Given the description of an element on the screen output the (x, y) to click on. 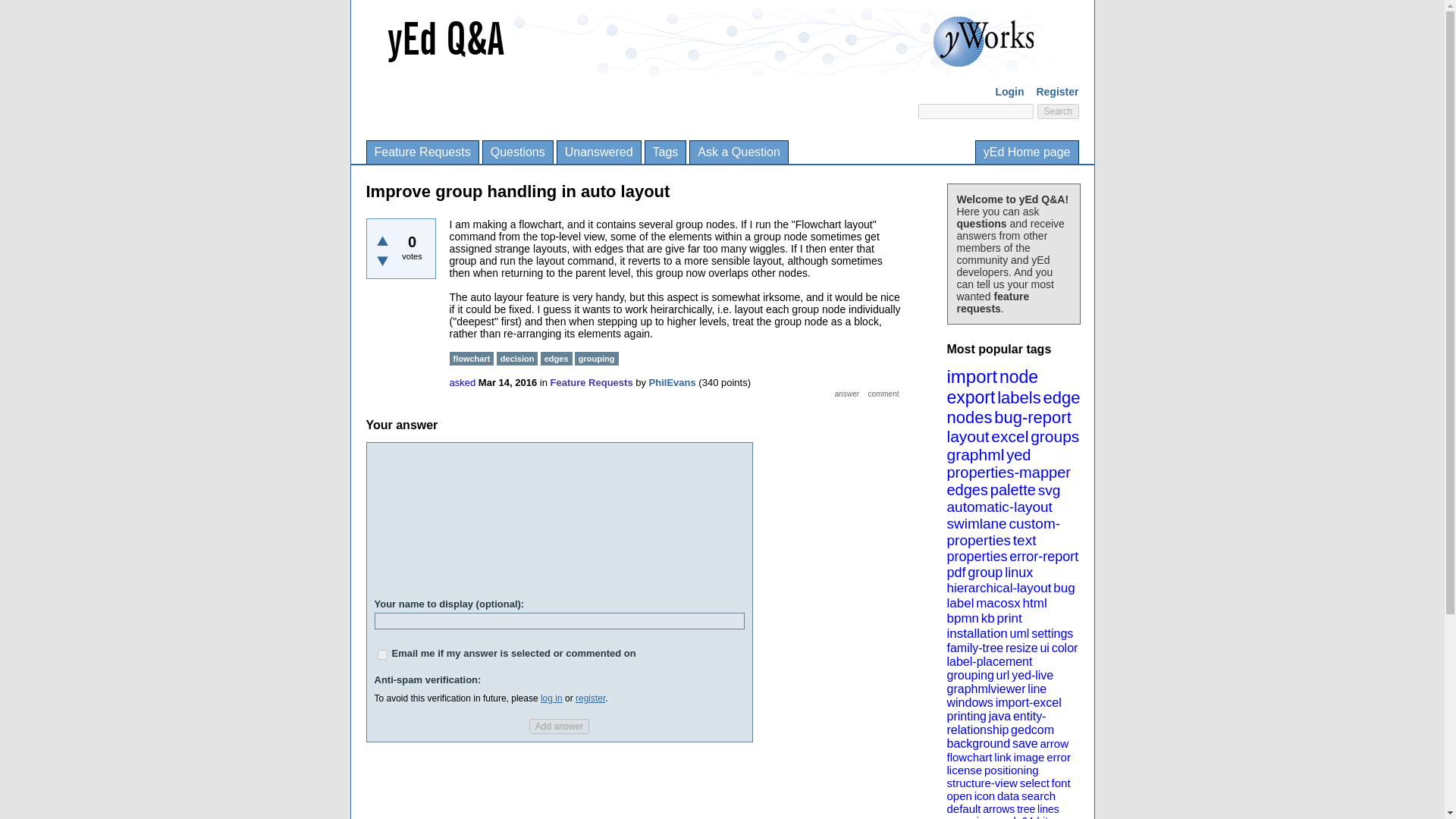
yEd Home page (1026, 151)
macosx (997, 603)
Tags (665, 151)
label (960, 603)
error-report (1043, 556)
export (970, 397)
nodes (968, 416)
Login (1008, 91)
properties (976, 556)
node (1018, 376)
custom-properties (1002, 531)
Ask a Question (738, 151)
swimlane (976, 523)
Search (1057, 111)
Search (1057, 111)
